Given the description of an element on the screen output the (x, y) to click on. 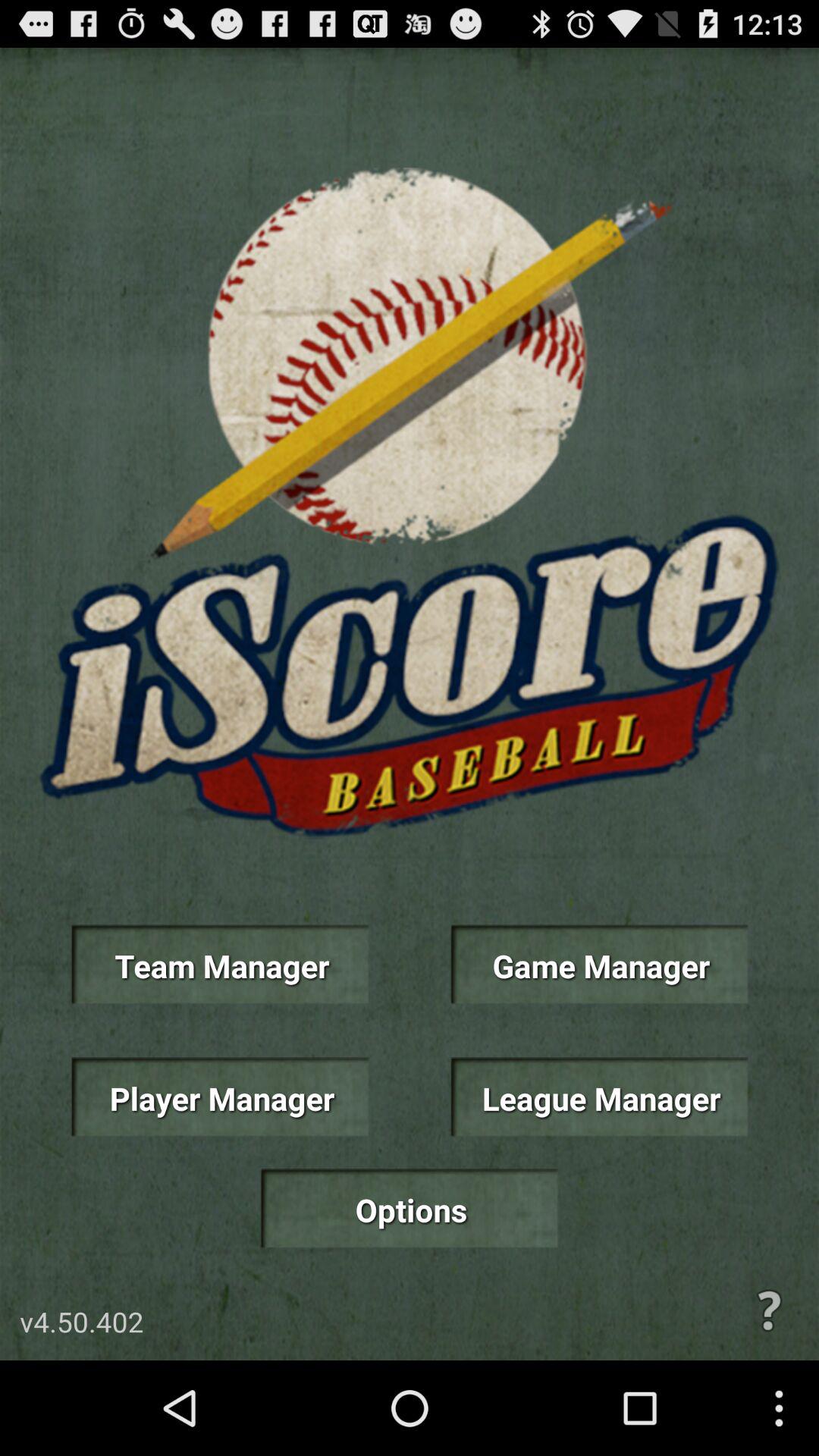
flip until the options item (408, 1208)
